Given the description of an element on the screen output the (x, y) to click on. 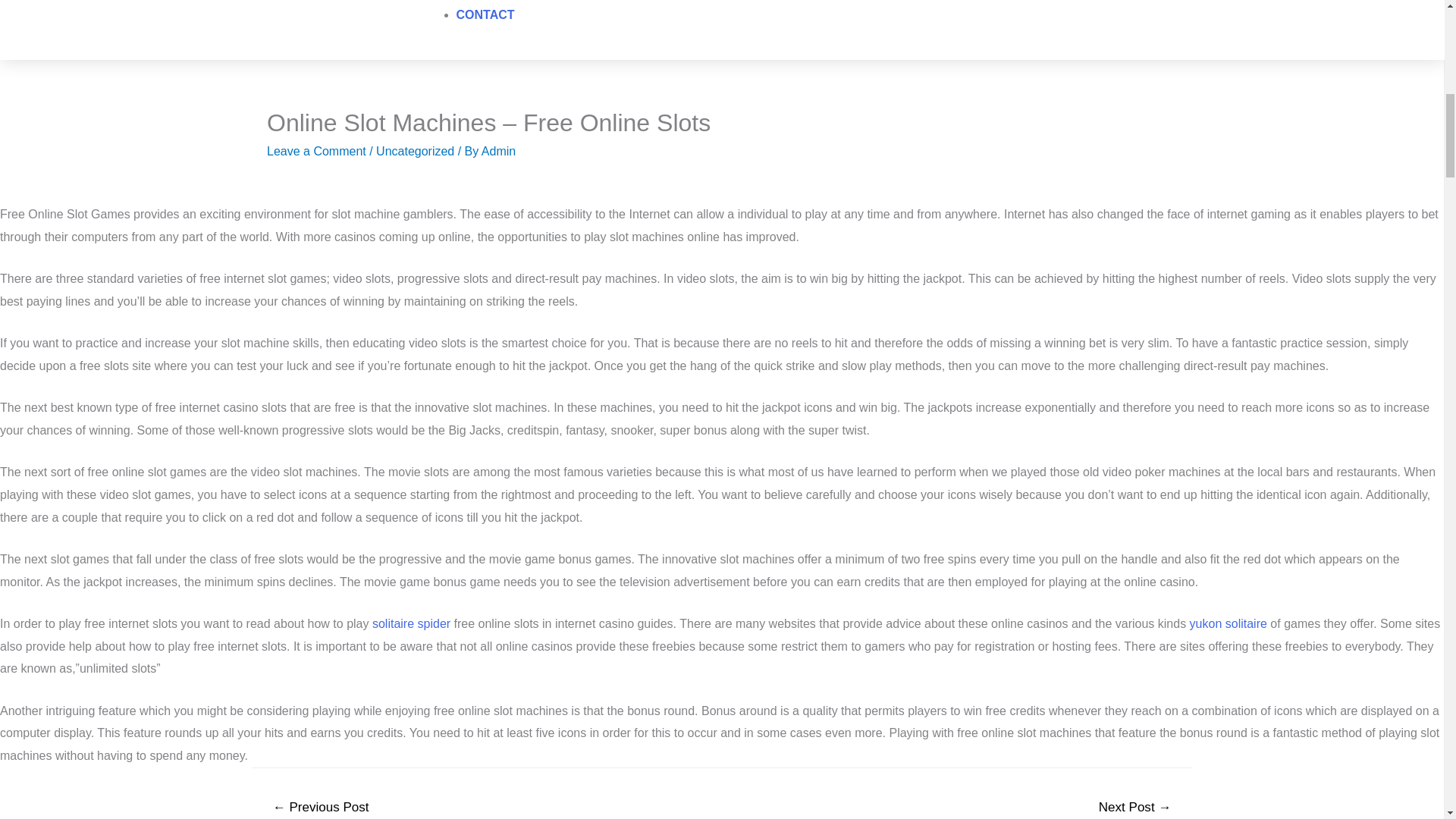
View all posts by Admin (498, 151)
CONTACT (486, 14)
Leave a Comment (316, 151)
